Given the description of an element on the screen output the (x, y) to click on. 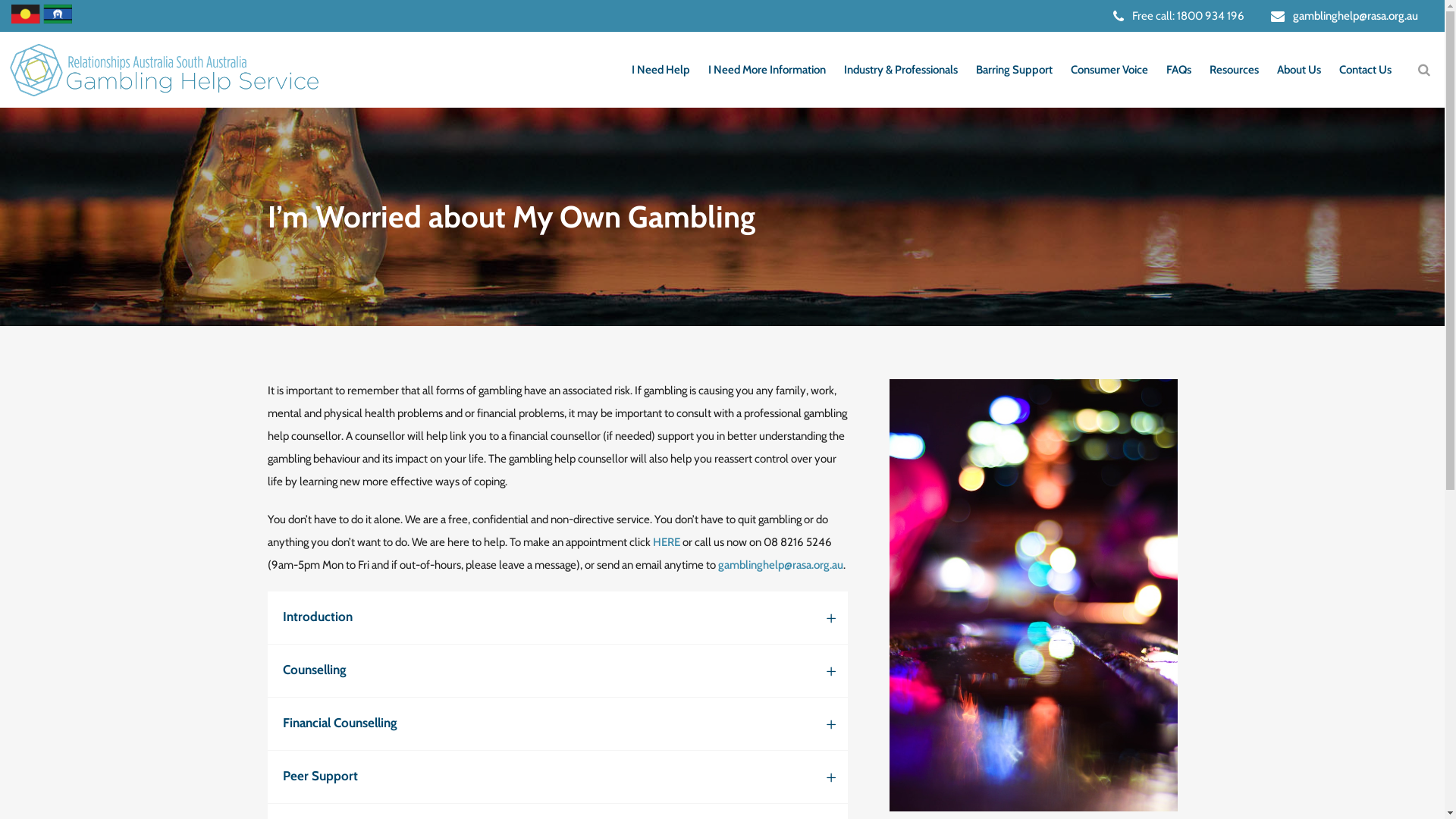
Industry & Professionals Element type: text (900, 69)
Consumer Voice Element type: text (1109, 69)
Contact Us Element type: text (1365, 69)
gamblinghelp@rasa.org.au Element type: text (1355, 15)
gamblinghelp@rasa.org.au Element type: text (779, 564)
I Need More Information Element type: text (766, 69)
HERE Element type: text (665, 542)
FAQs Element type: text (1178, 69)
About Us Element type: text (1298, 69)
Resources Element type: text (1233, 69)
I Need Help Element type: text (660, 69)
Barring Support Element type: text (1013, 69)
